Given the description of an element on the screen output the (x, y) to click on. 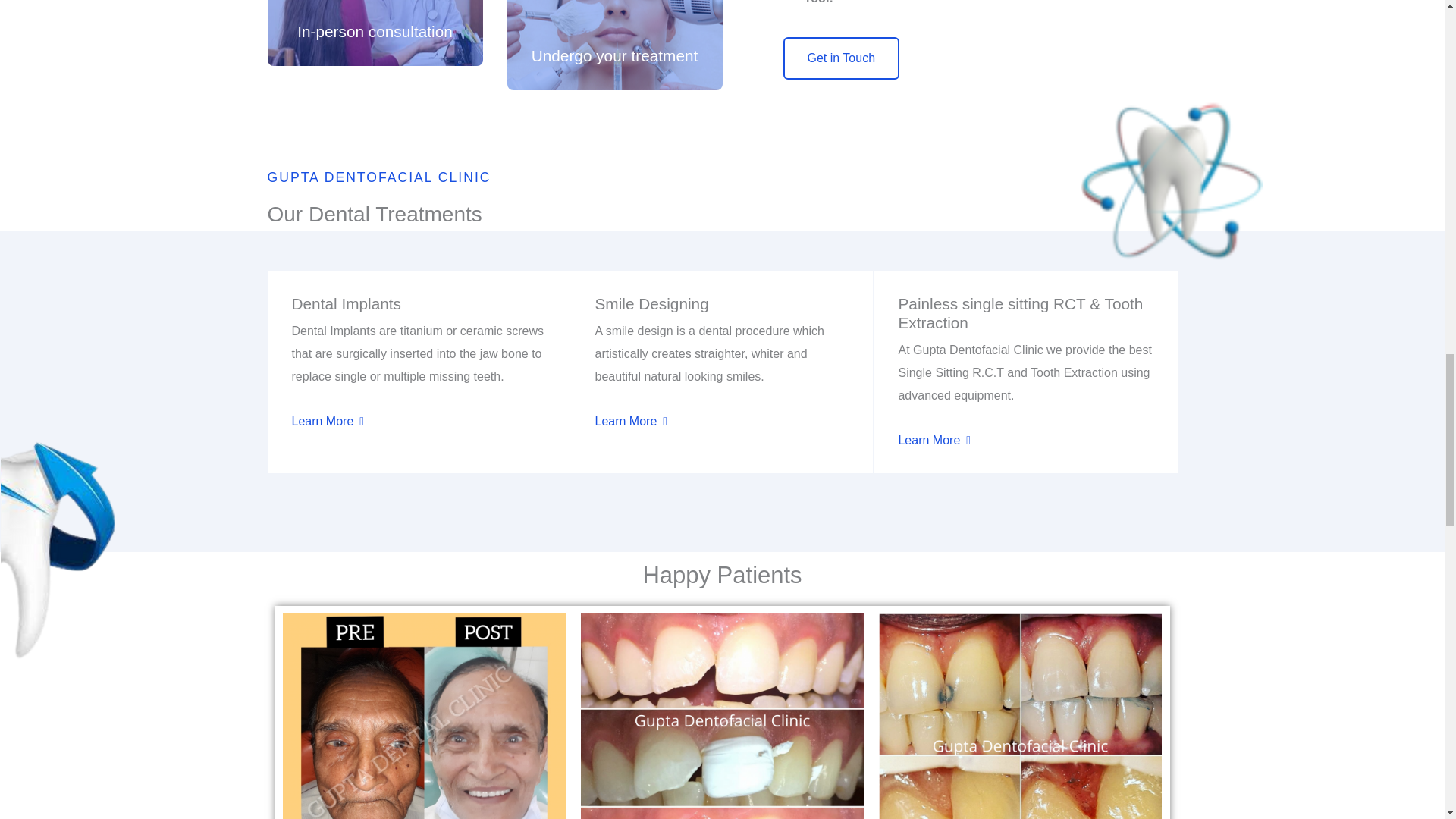
Learn More (630, 421)
Learn More (934, 440)
Get in Touch (841, 57)
Learn More (327, 421)
